Given the description of an element on the screen output the (x, y) to click on. 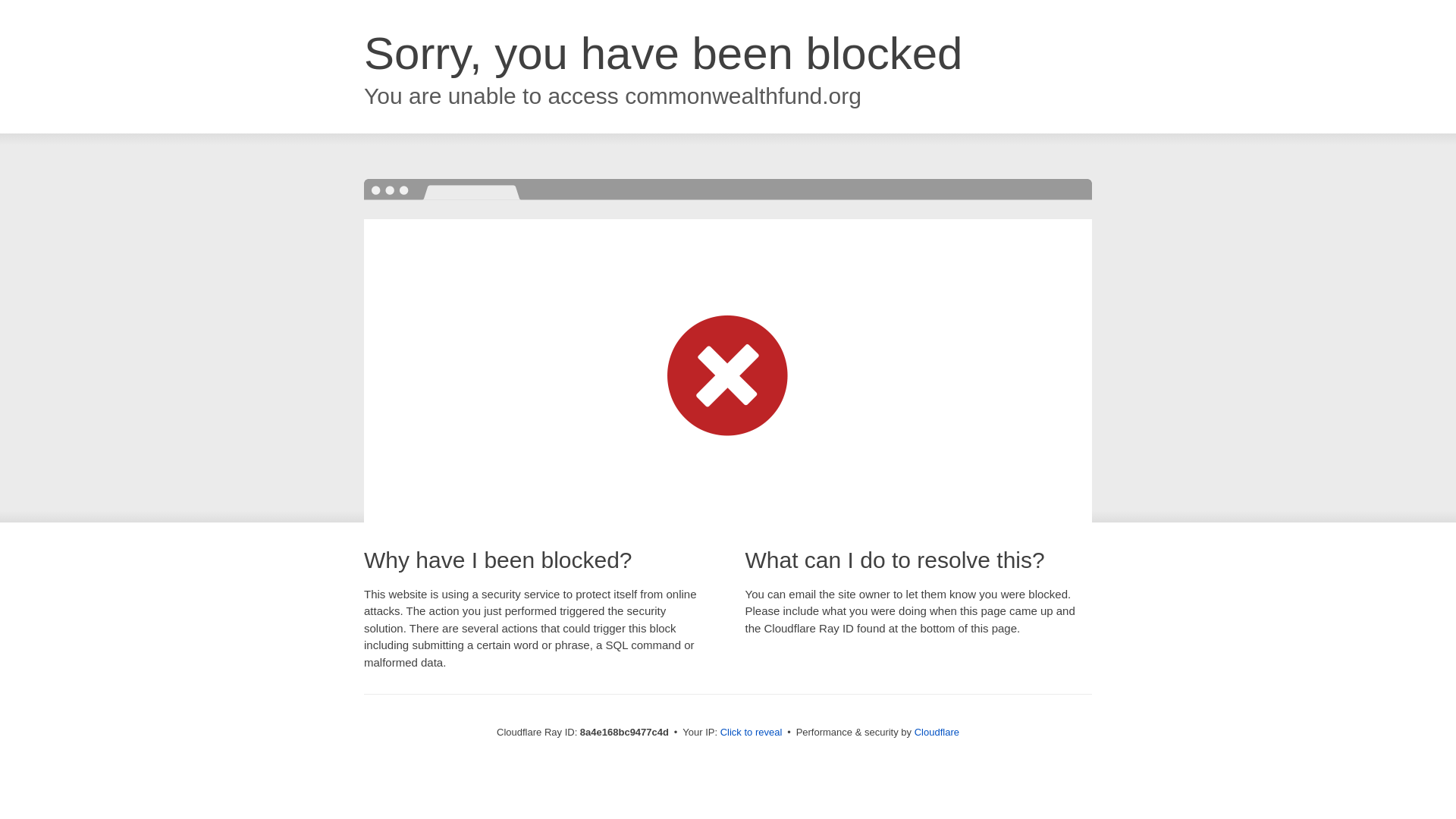
Cloudflare (936, 731)
Click to reveal (751, 732)
